Given the description of an element on the screen output the (x, y) to click on. 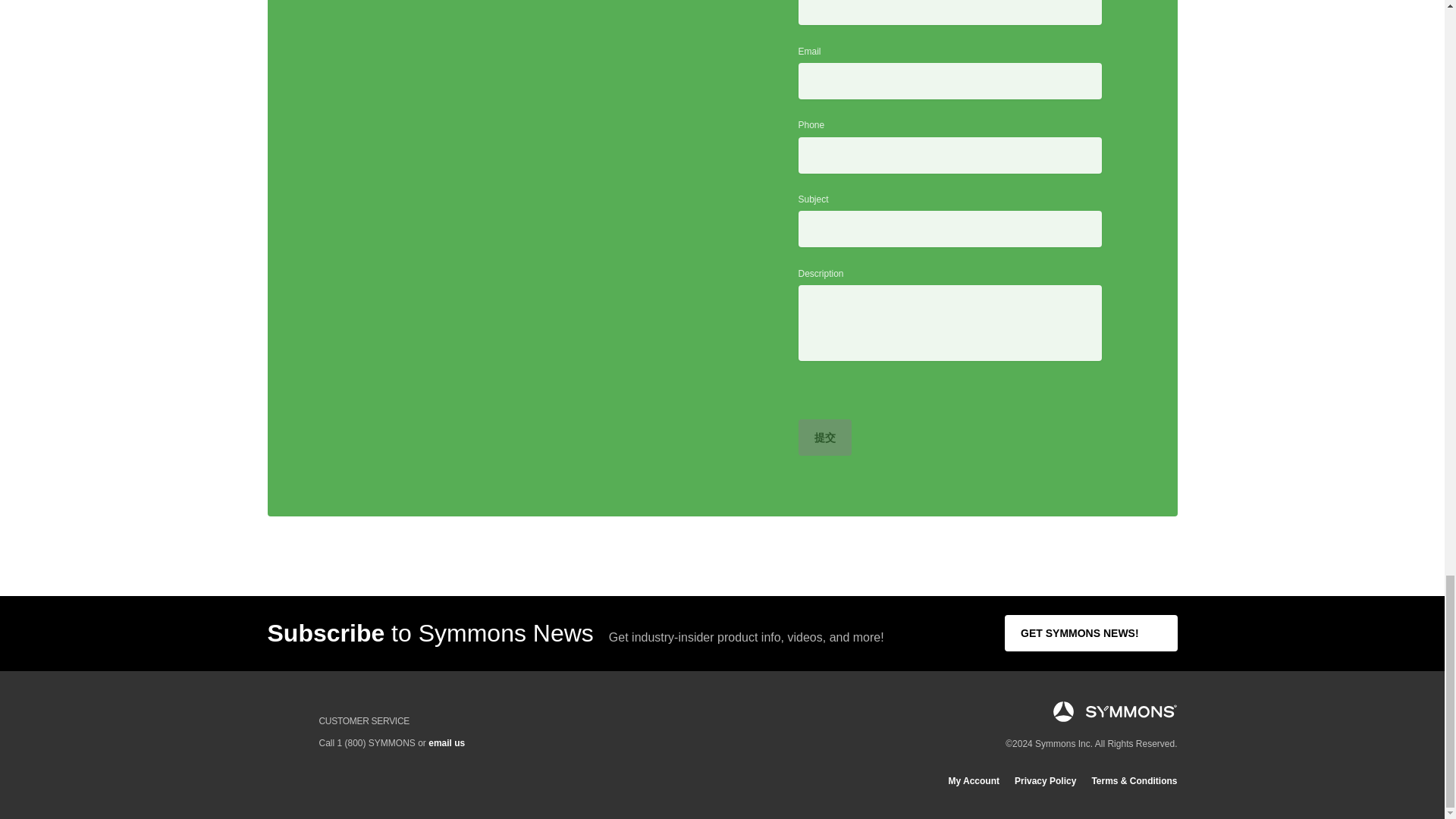
GET SYMMONS NEWS! (1090, 633)
